Given the description of an element on the screen output the (x, y) to click on. 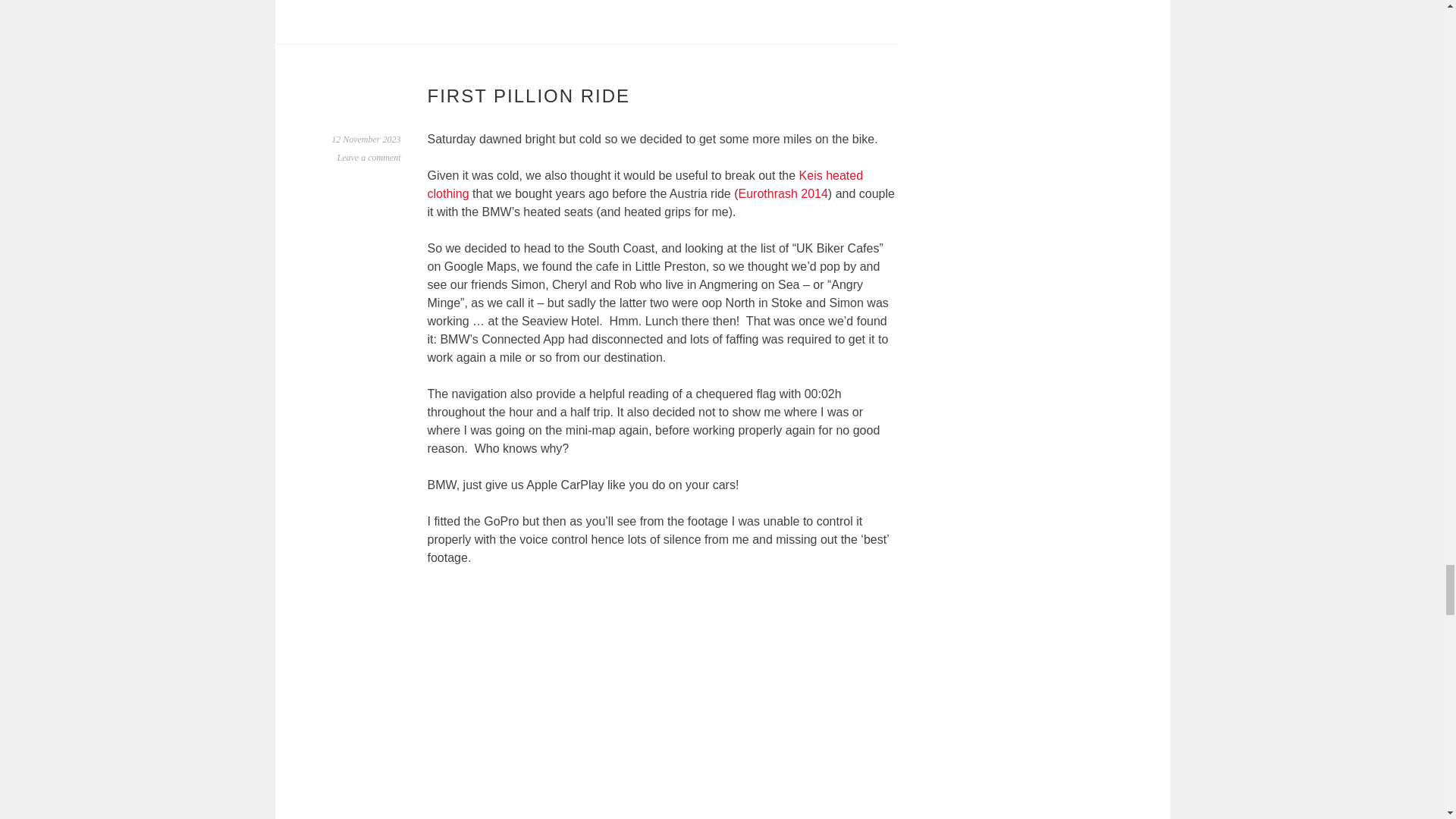
Permalink to First Pillion Ride (365, 139)
YouTube player (662, 702)
